Given the description of an element on the screen output the (x, y) to click on. 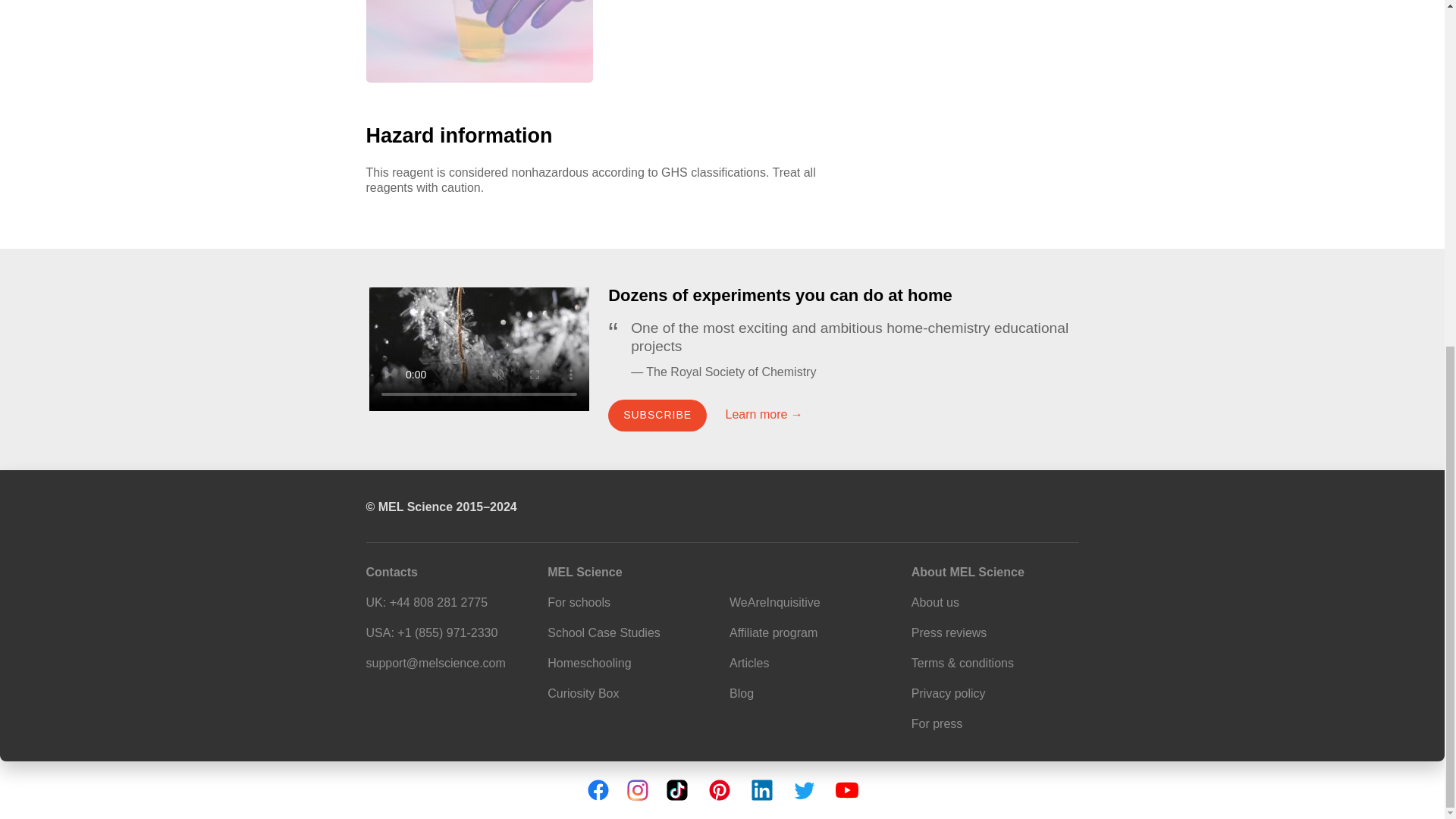
For press (936, 723)
WeAreInquisitive (775, 602)
About us (935, 602)
School Case Studies (604, 632)
Privacy policy (948, 693)
Articles (748, 662)
SUBSCRIBE (657, 415)
For schools (578, 602)
Affiliate program (772, 632)
Homeschooling (588, 662)
Press reviews (949, 632)
Curiosity Box (582, 693)
Opens a widget where you can find more information (1386, 196)
Blog (741, 693)
